Given the description of an element on the screen output the (x, y) to click on. 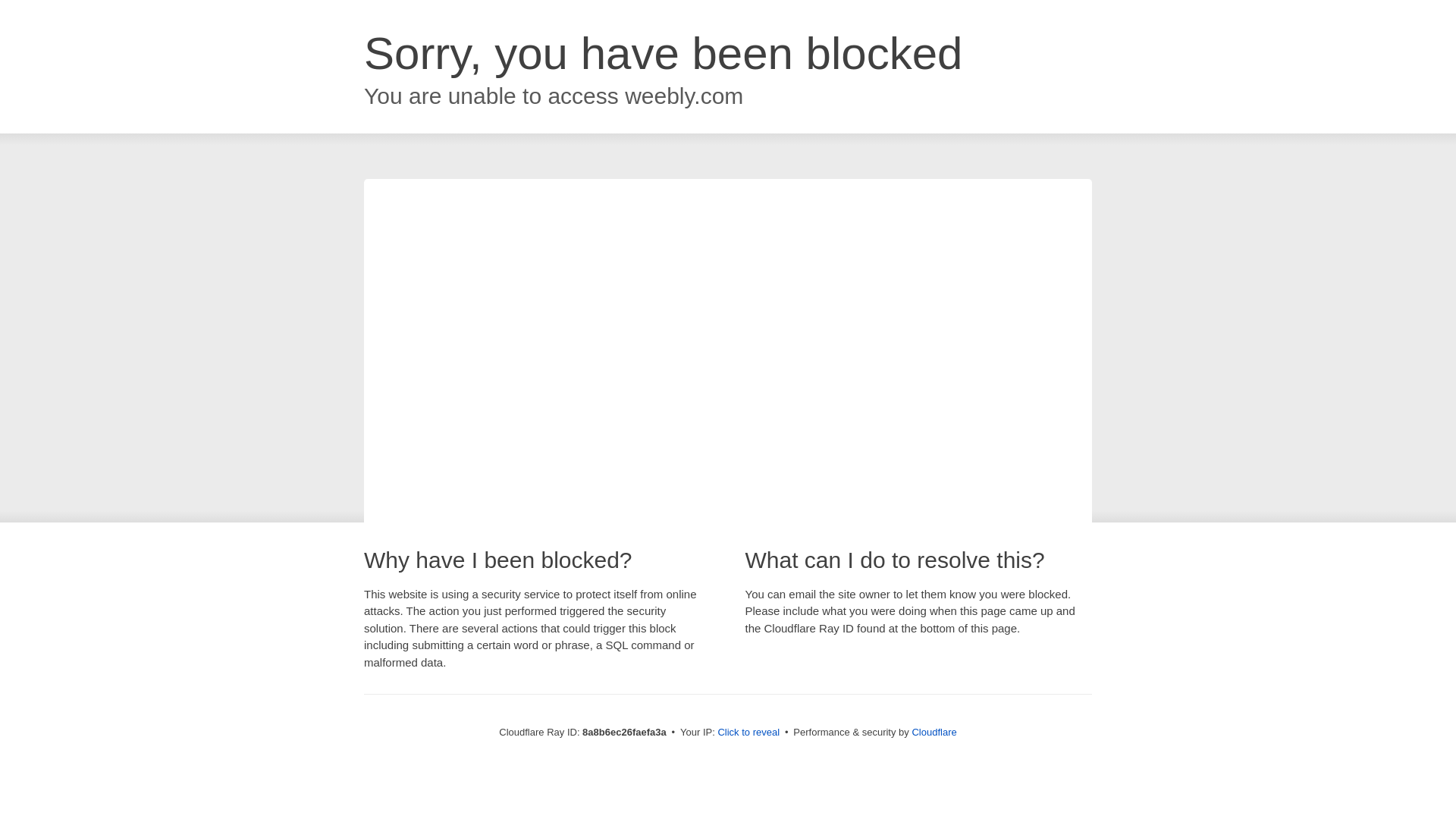
Cloudflare (933, 731)
Click to reveal (747, 732)
